Given the description of an element on the screen output the (x, y) to click on. 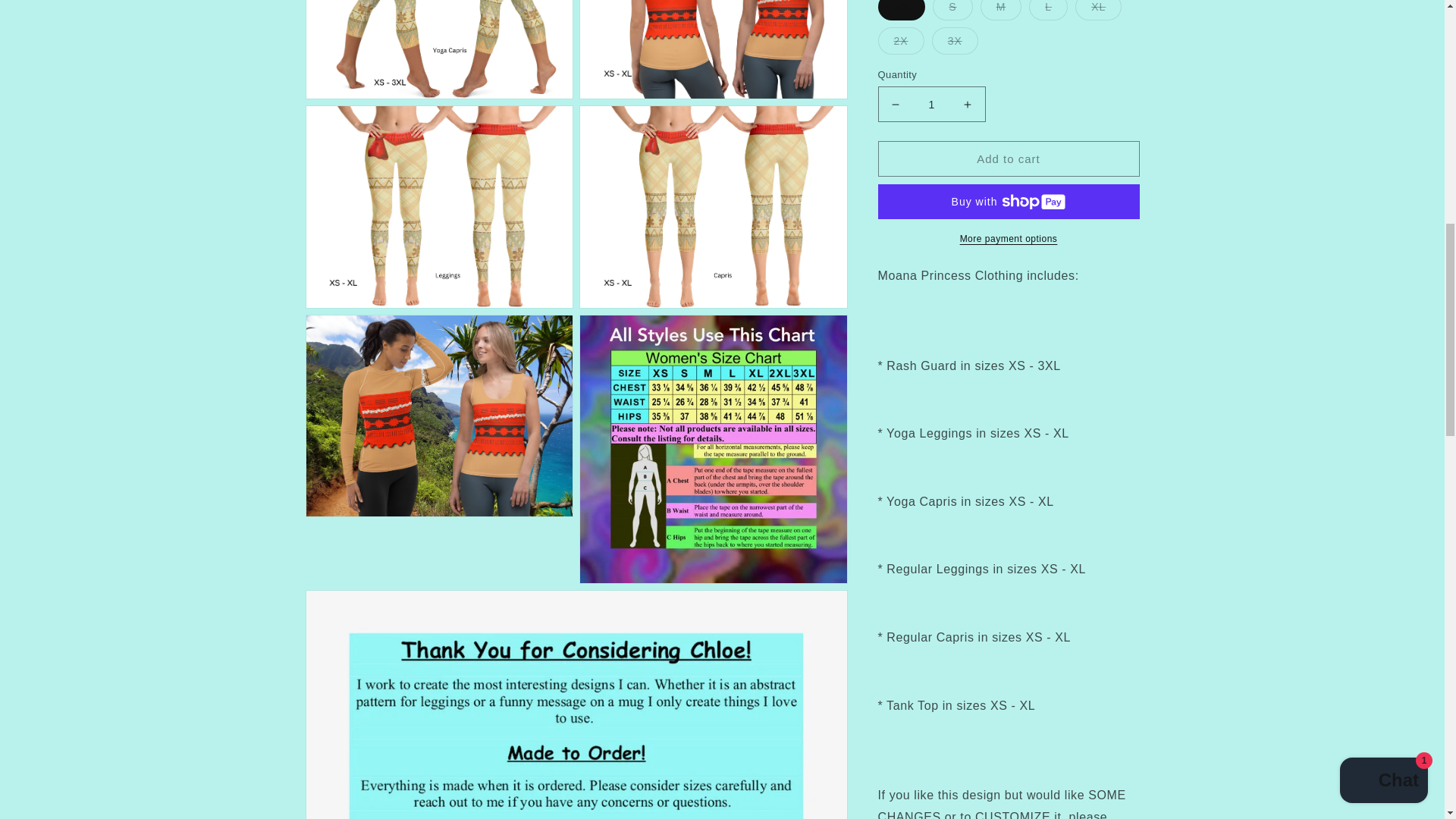
1 (931, 85)
